Given the description of an element on the screen output the (x, y) to click on. 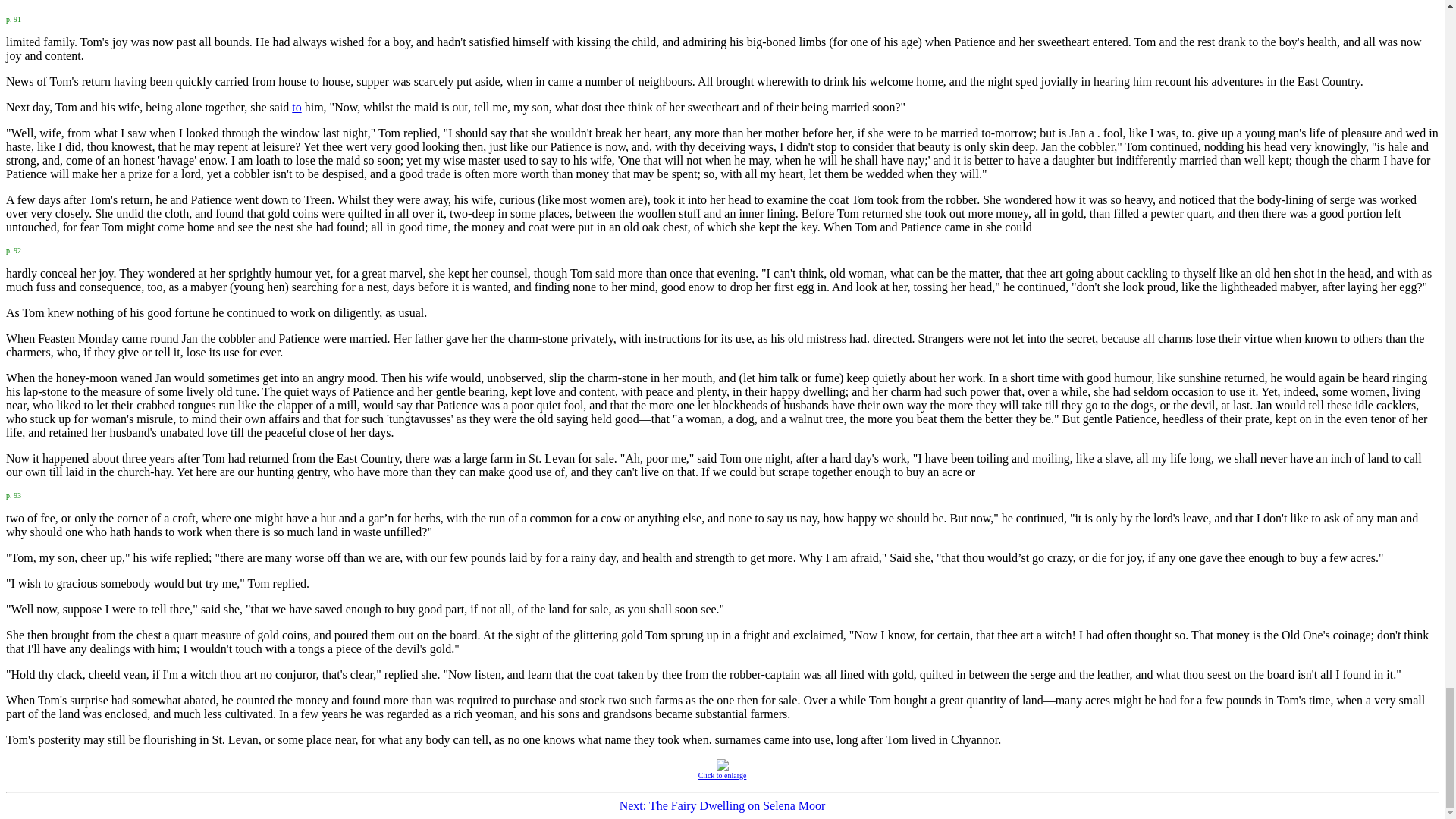
p. 92 (13, 248)
p. 91 (13, 17)
Click to enlarge (722, 770)
p. 93 (13, 493)
Next: The Fairy Dwelling on Selena Moor (722, 805)
